Given the description of an element on the screen output the (x, y) to click on. 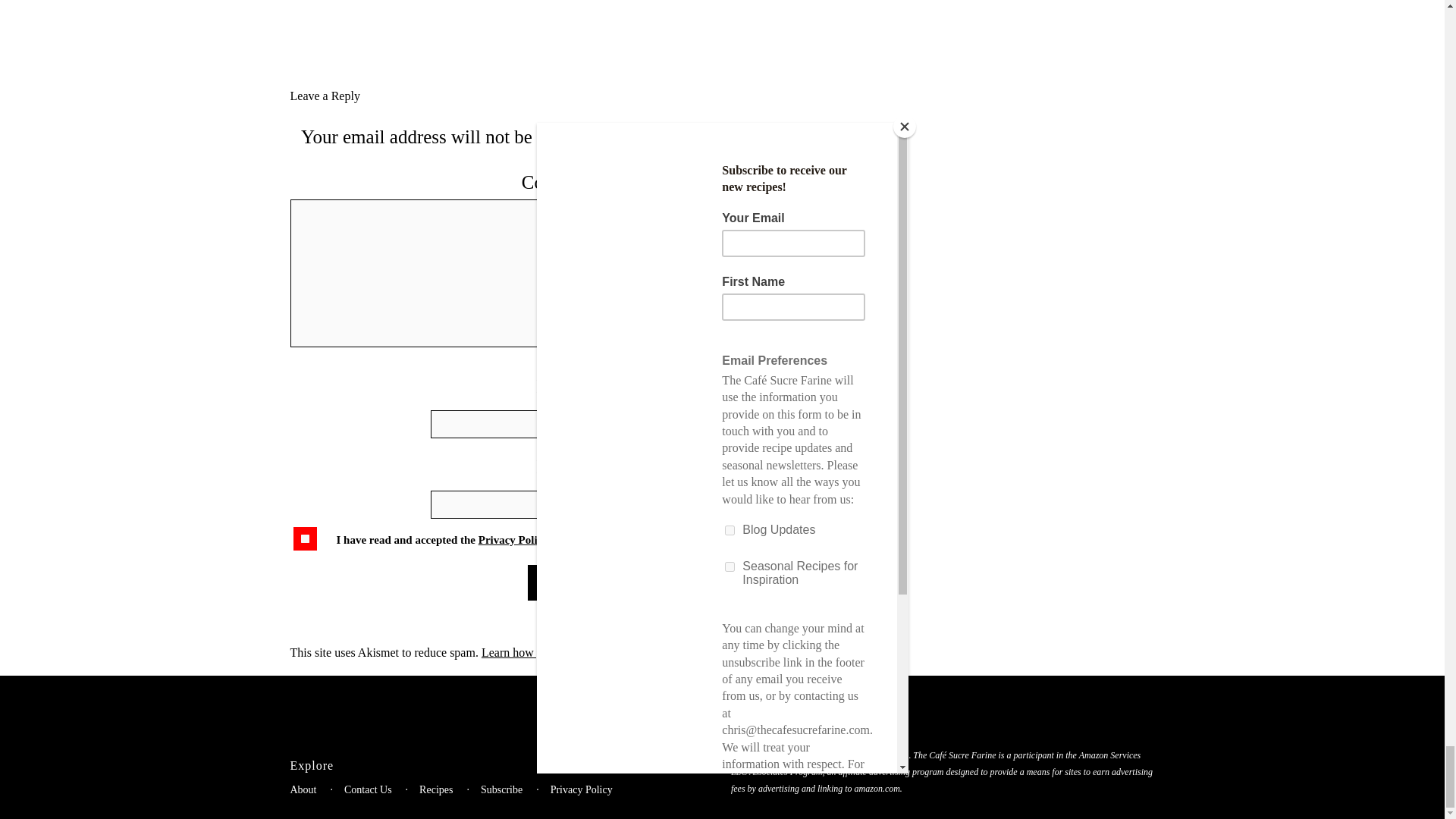
policy-key (304, 538)
Post Comment (569, 582)
